Given the description of an element on the screen output the (x, y) to click on. 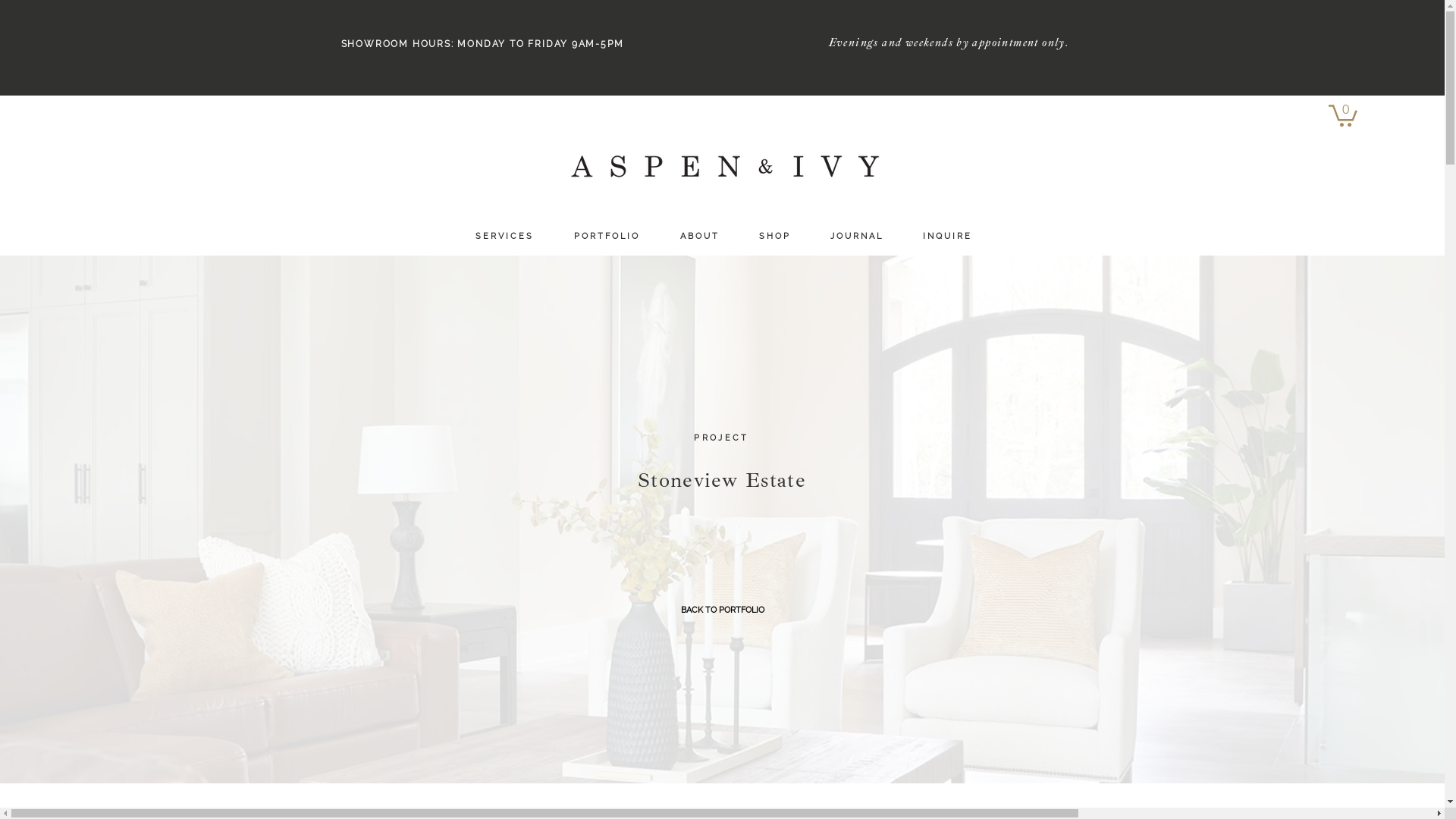
0 Element type: text (1342, 114)
P O R T F O L I O Element type: text (605, 236)
S E R V I C E S Element type: text (502, 236)
BACK TO PORTFOLIO Element type: text (722, 610)
I N Q U I R E Element type: text (946, 236)
A B O U T Element type: text (697, 236)
J O U R N A L Element type: text (855, 236)
S H O P Element type: text (773, 236)
